Given the description of an element on the screen output the (x, y) to click on. 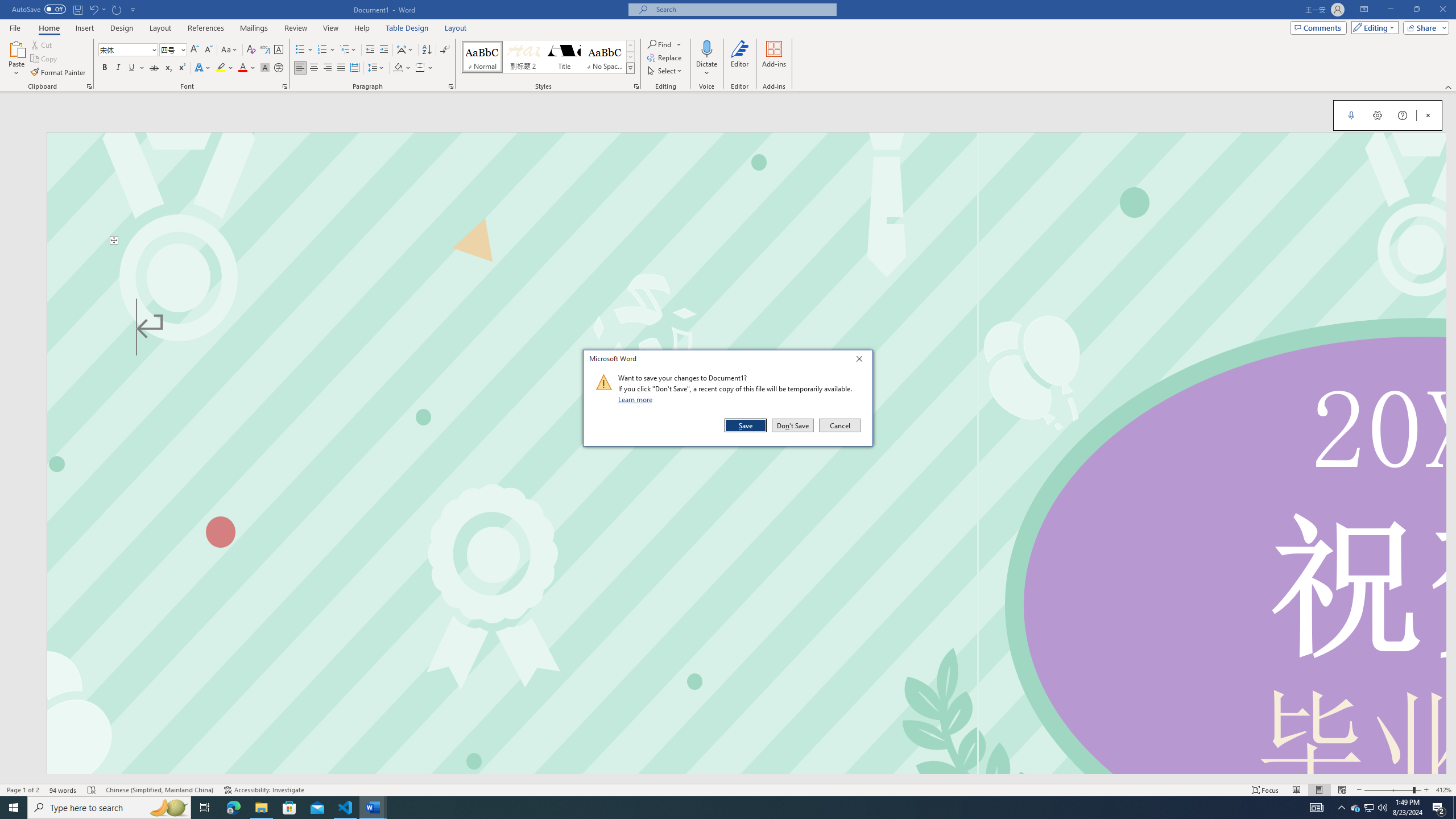
Show desktop (1454, 807)
Word Count 94 words (63, 790)
